Given the description of an element on the screen output the (x, y) to click on. 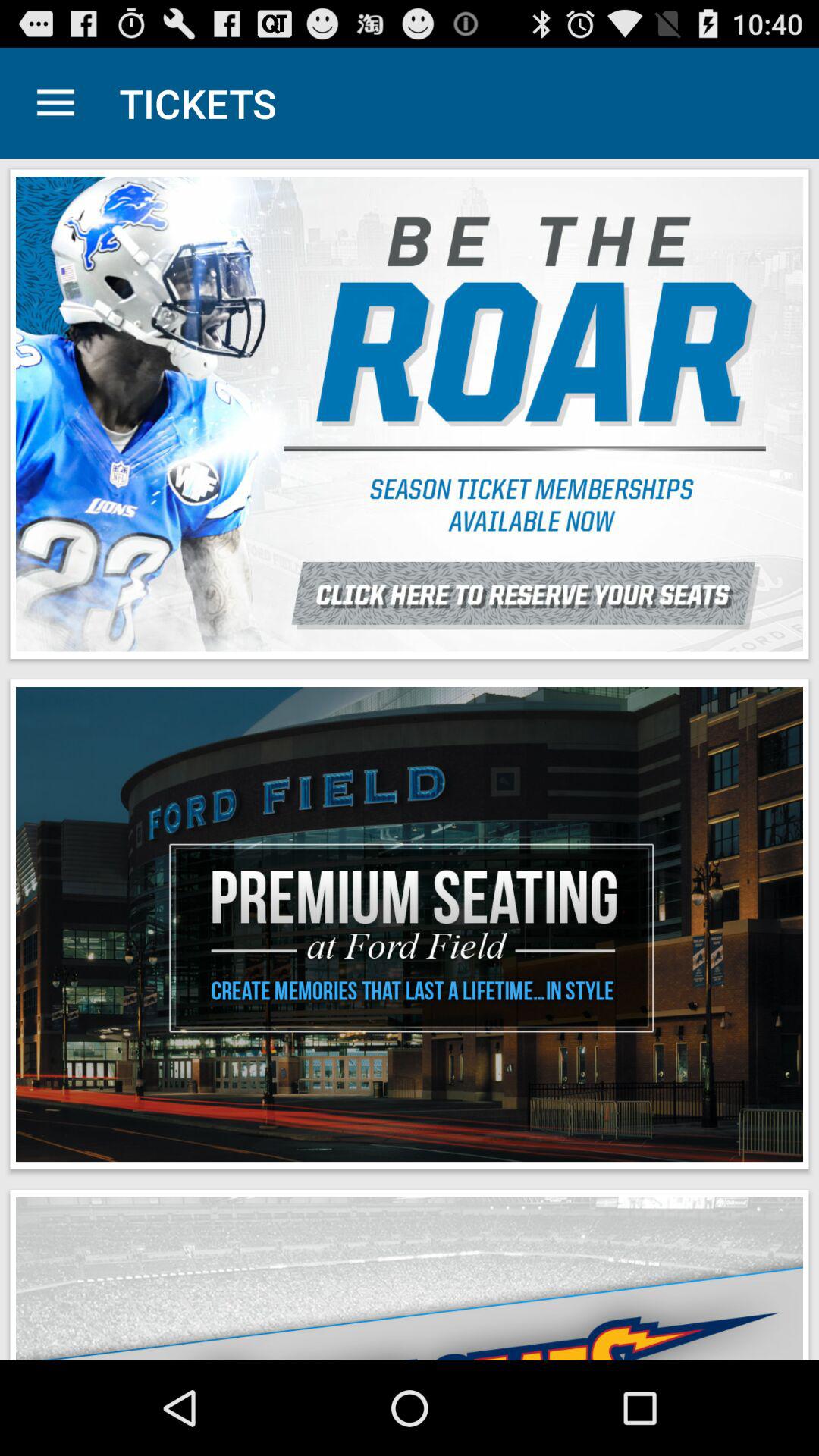
choose app to the left of tickets item (55, 103)
